Given the description of an element on the screen output the (x, y) to click on. 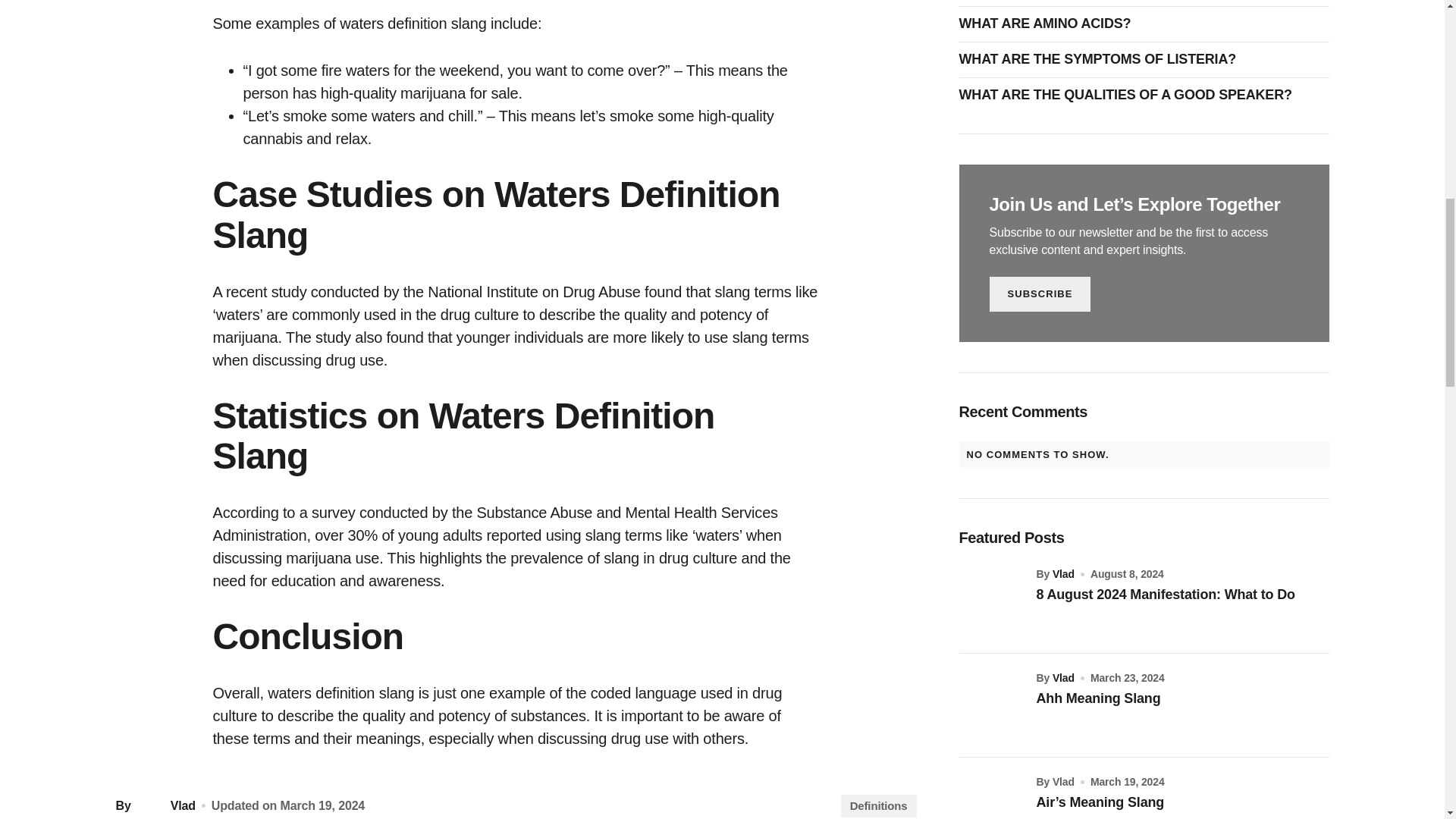
Vlad (164, 805)
WHAT ARE THE QUALITIES OF A GOOD SPEAKER? (1129, 95)
WHAT ARE THE SYMPTOMS OF LISTERIA? (1100, 59)
WHAT ARE AMINO ACIDS? (1048, 23)
Definitions (879, 805)
